Given the description of an element on the screen output the (x, y) to click on. 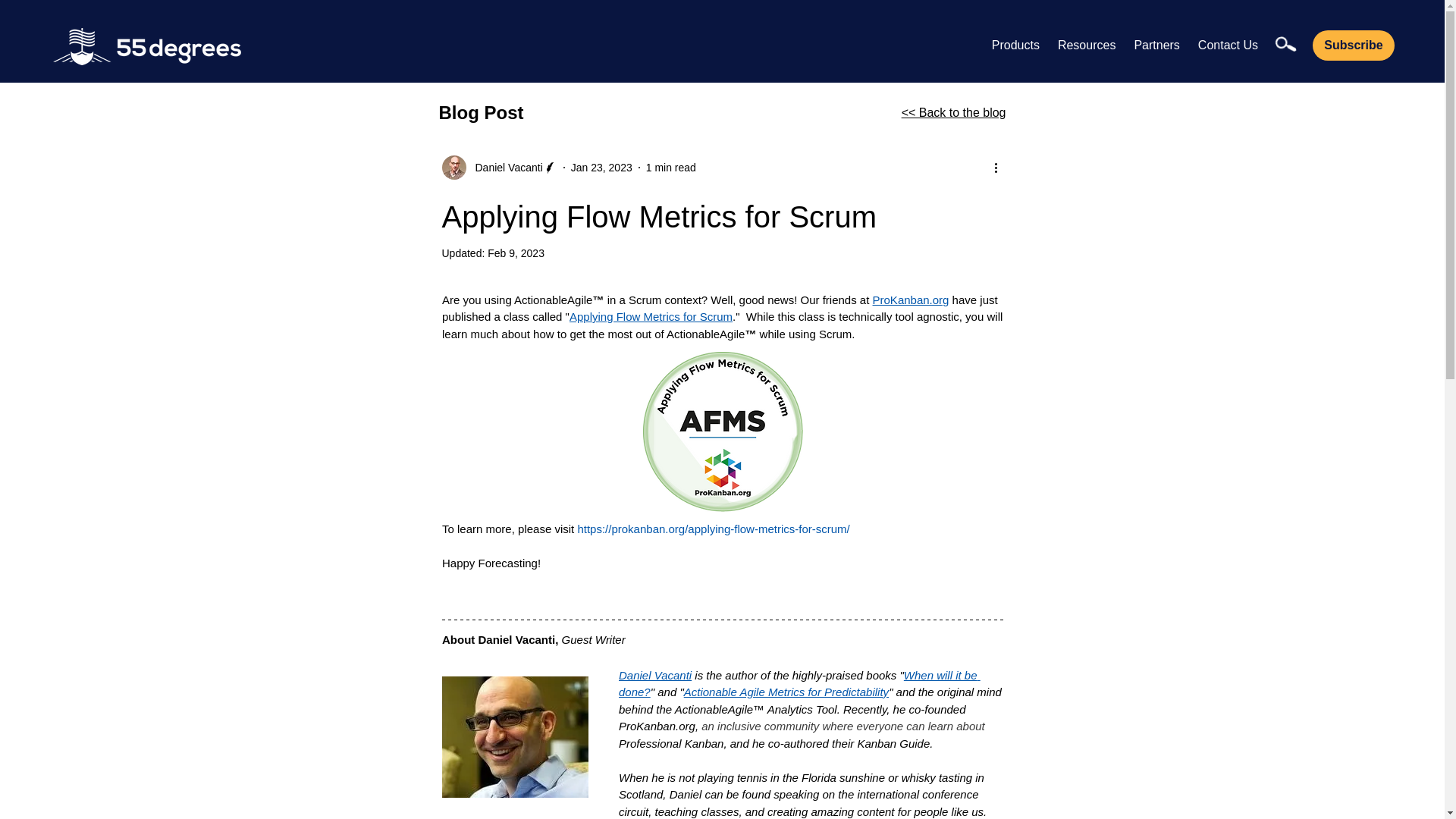
Jan 23, 2023 (600, 166)
Daniel Vacanti (498, 167)
search-icon-white.png (1283, 42)
Contact Us (1227, 44)
Applying Flow Metrics for Scrum (650, 316)
Products (1015, 44)
Daniel Vacanti (503, 166)
ProKanban.org (910, 298)
Subscribe (1353, 45)
Actionable Agile Metrics for Predictability (785, 691)
Daniel Vacanti (654, 675)
Partners (1156, 44)
When will it be done? (798, 684)
Feb 9, 2023 (1064, 44)
